Given the description of an element on the screen output the (x, y) to click on. 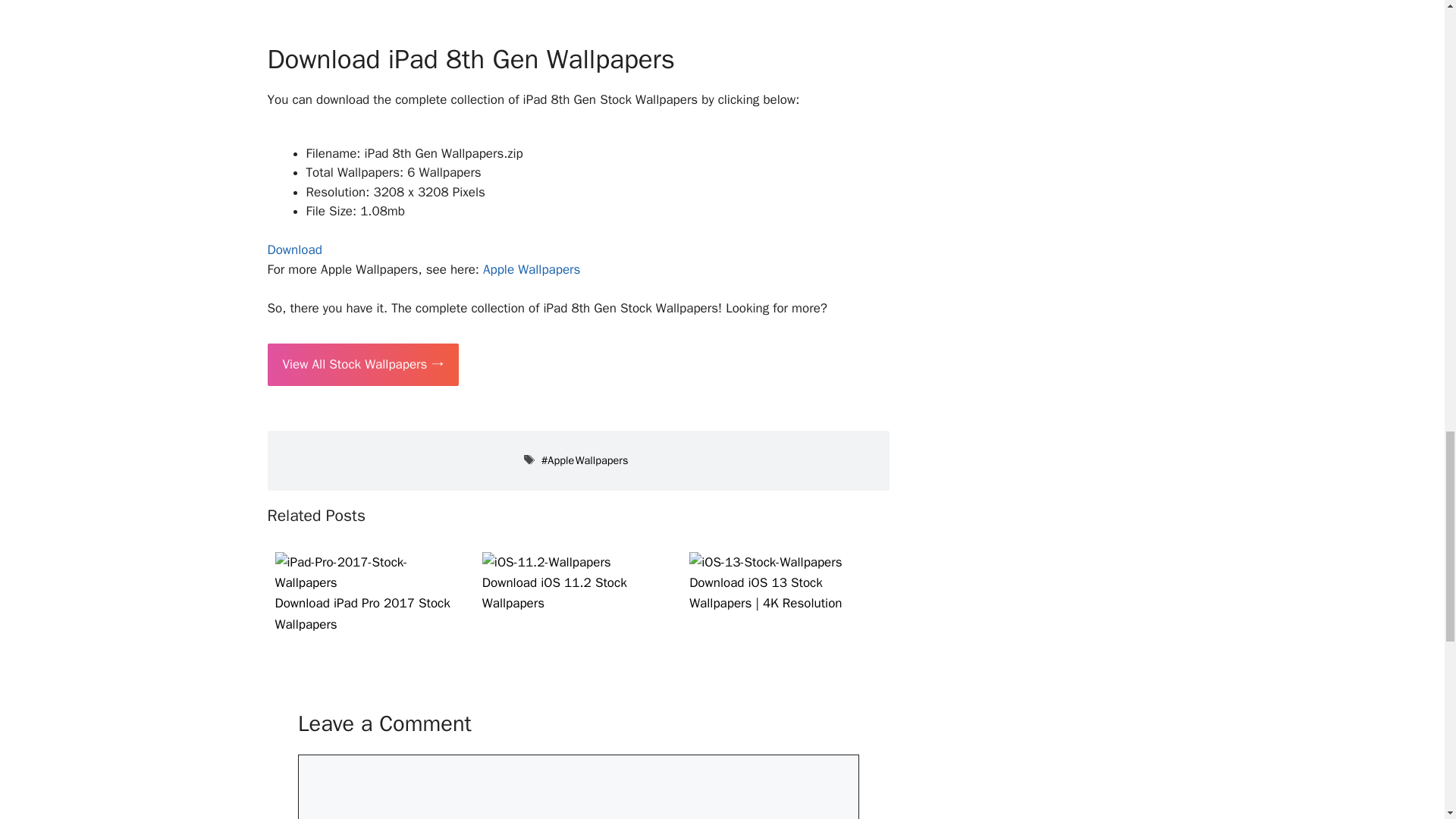
Download (293, 249)
Apple Wallpapers (531, 269)
Apple Wallpapers (583, 459)
